Given the description of an element on the screen output the (x, y) to click on. 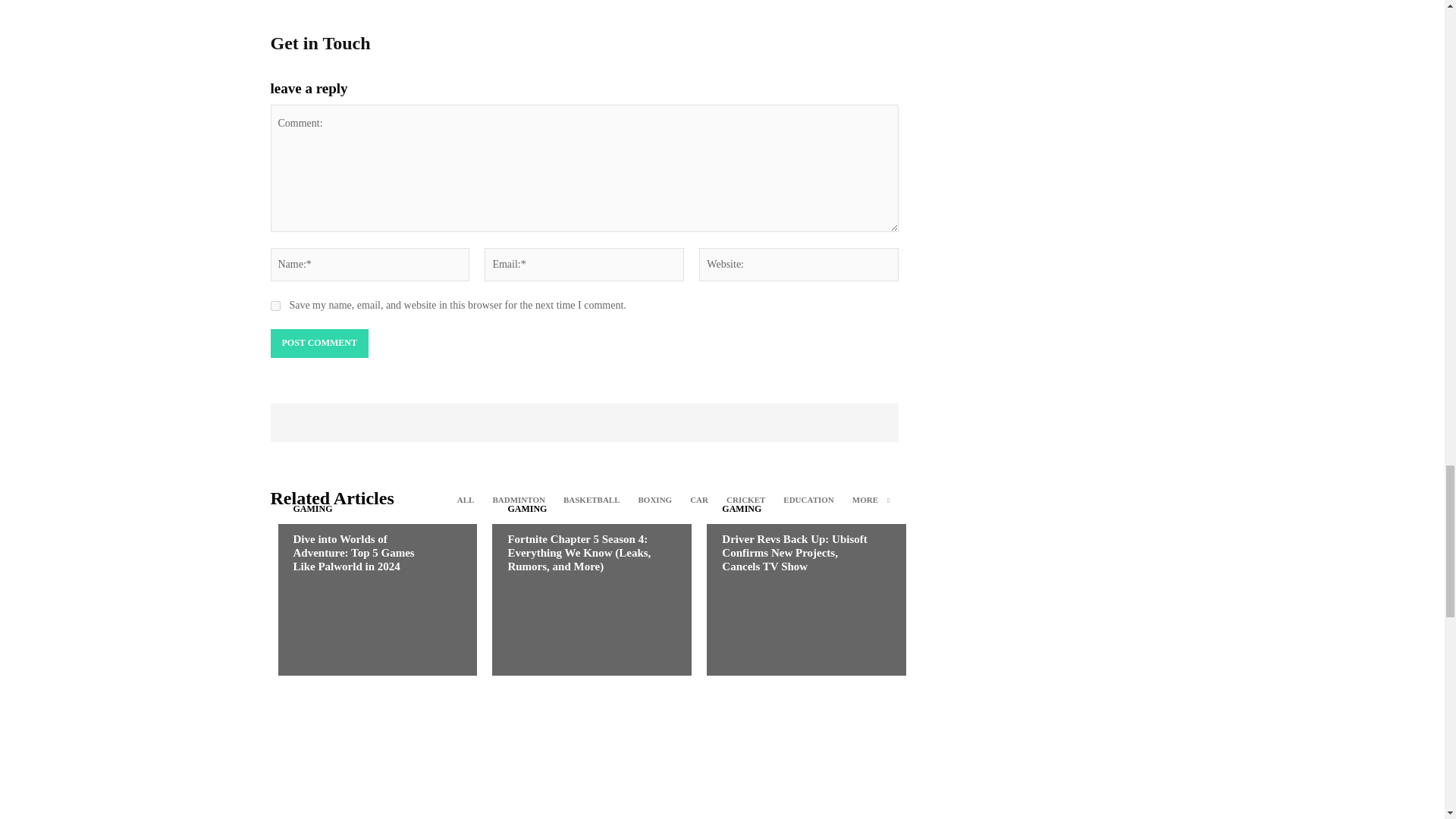
Post Comment (318, 343)
yes (274, 306)
